Given the description of an element on the screen output the (x, y) to click on. 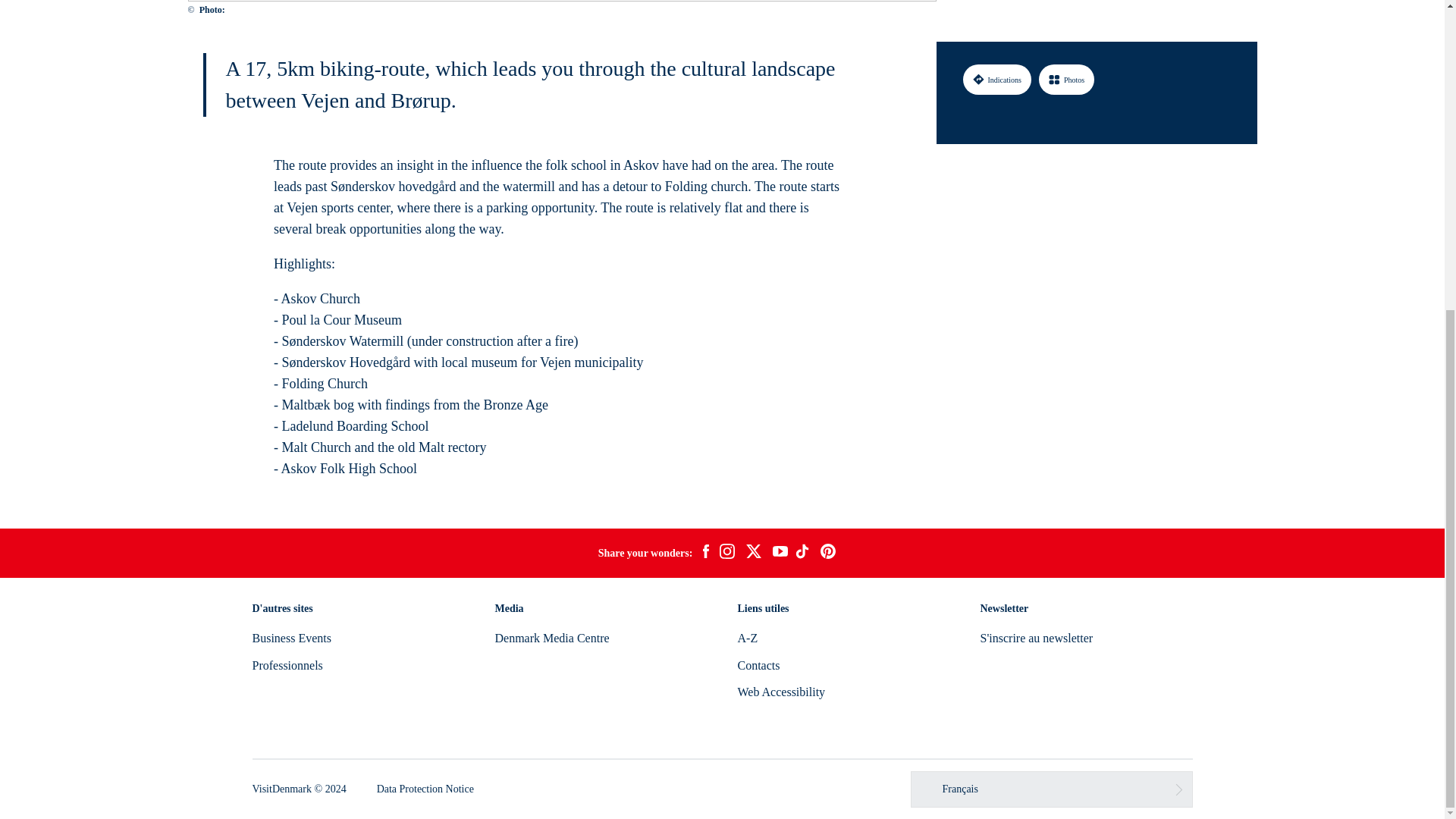
Business Events (290, 637)
Web Accessibility (780, 691)
facebook (705, 553)
S'inscrire au newsletter (1036, 637)
Denmark Media Centre (551, 637)
Business Events (290, 637)
Denmark Media Centre (551, 637)
Data Protection Notice (425, 789)
youtube (780, 553)
Contacts (757, 665)
pinterest (828, 553)
S'inscrire au newsletter (1036, 637)
Data Protection Notice (425, 789)
Professionnels (286, 665)
A-Z (746, 637)
